Given the description of an element on the screen output the (x, y) to click on. 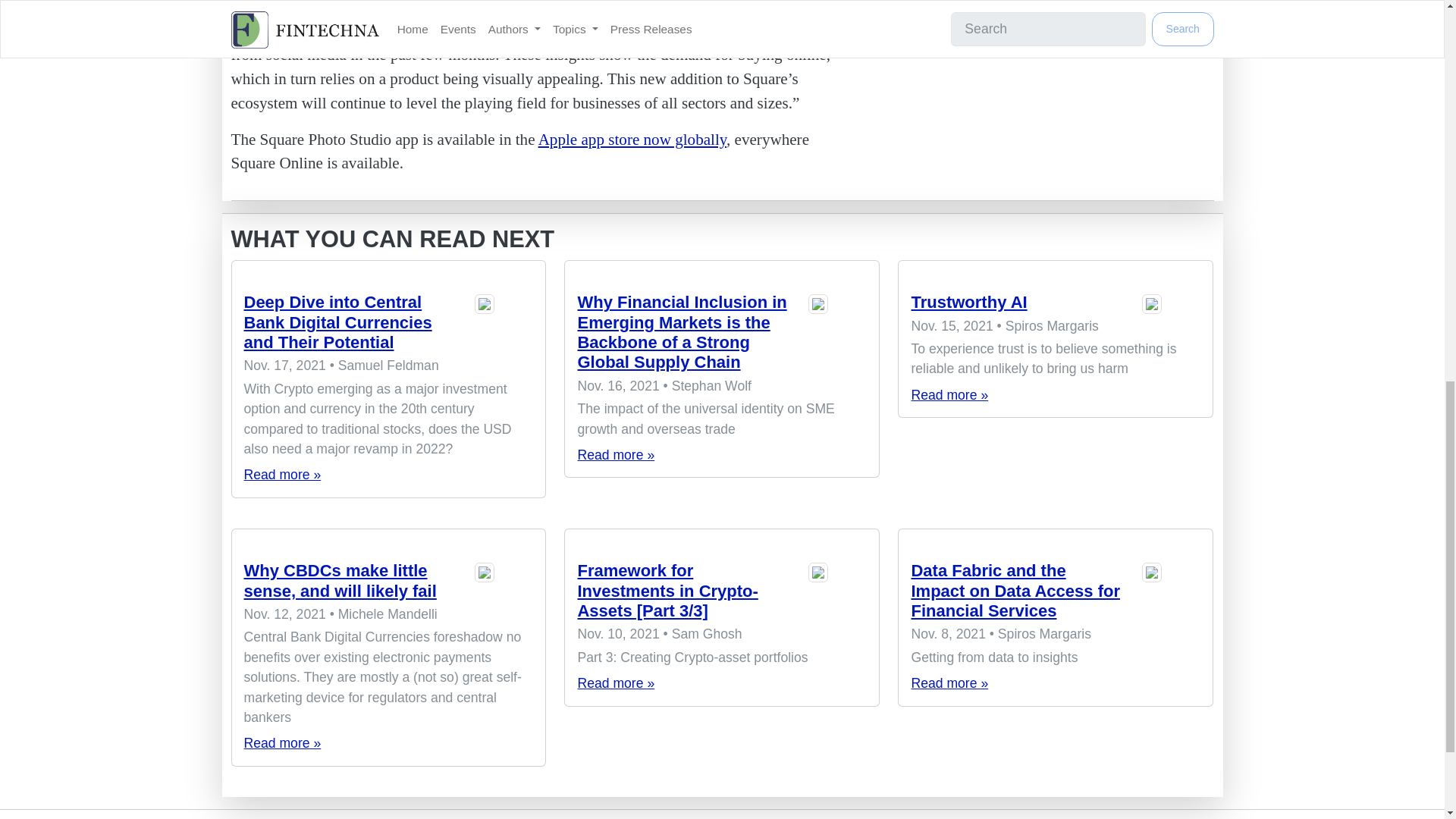
Trustworthy AI (968, 302)
Samuel Feldman (503, 325)
Spiros Margaris (1170, 305)
Why CBDCs make little sense, and will likely fail (340, 580)
Trustworthy AI (1055, 270)
Trustworthy AI (949, 394)
